Given the description of an element on the screen output the (x, y) to click on. 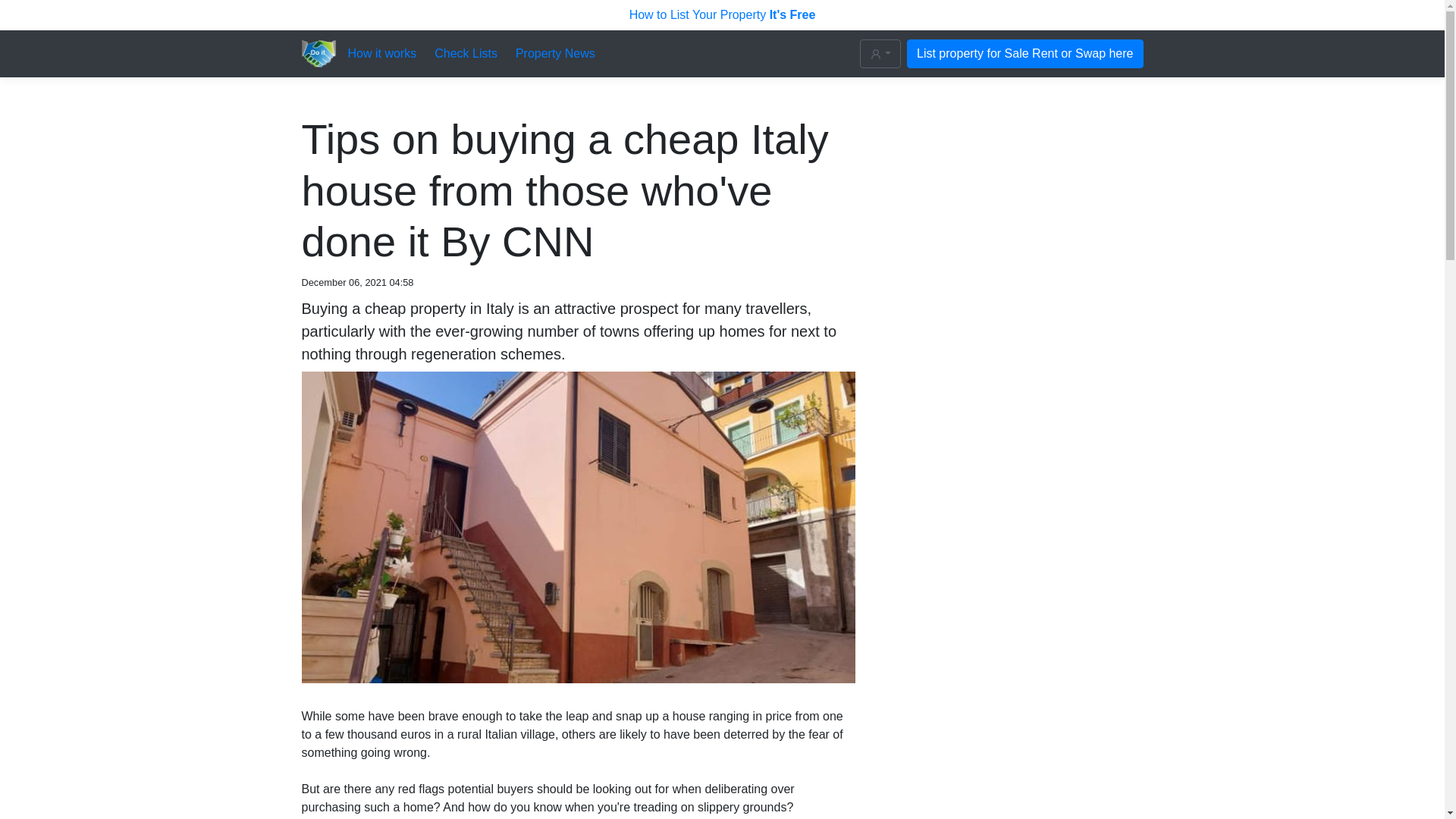
List property for Sale Rent or Swap here (1024, 53)
How it works (381, 54)
Check Lists (465, 54)
Property News (555, 54)
